Given the description of an element on the screen output the (x, y) to click on. 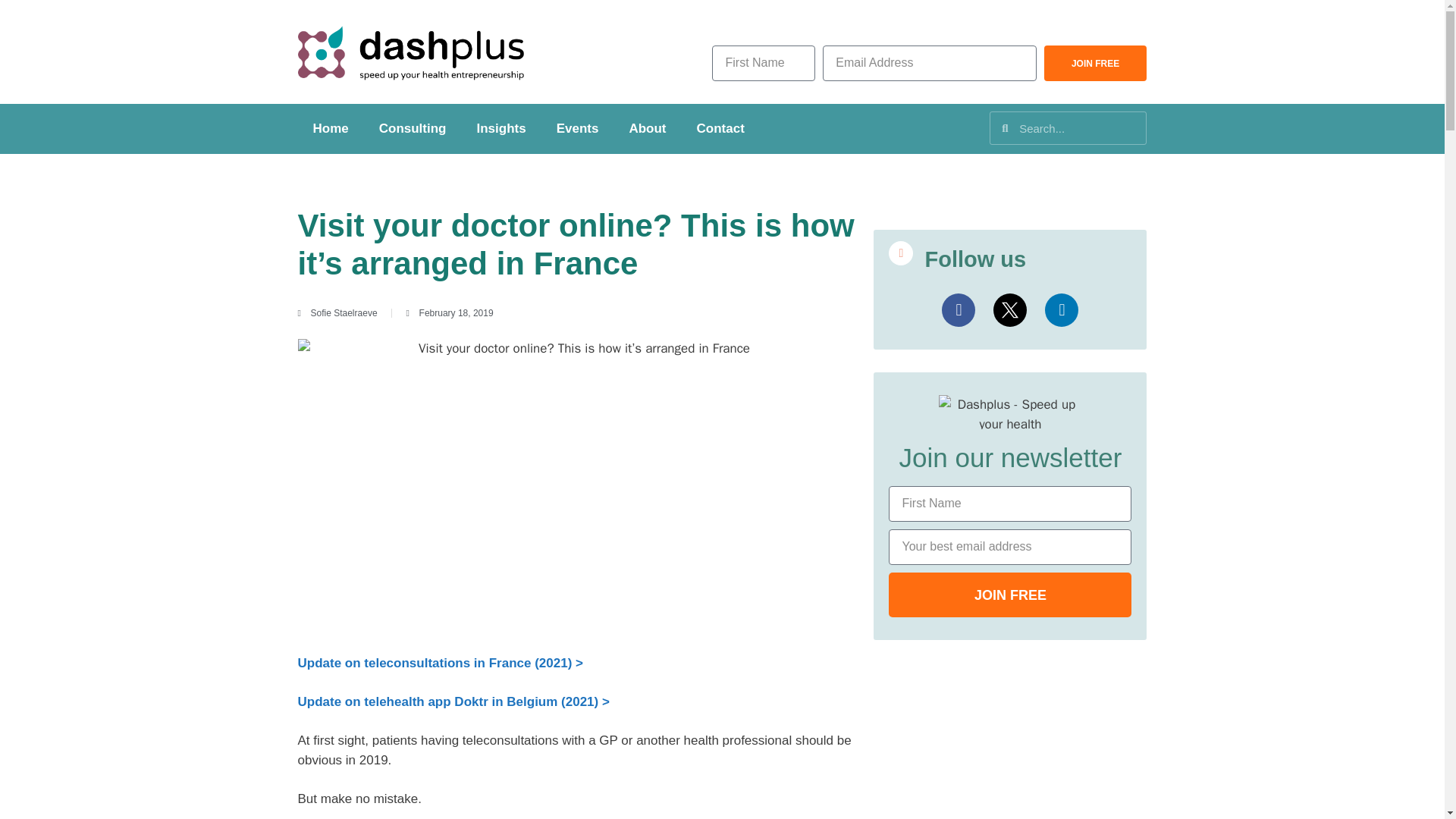
About (646, 128)
Insights (500, 128)
February 18, 2019 (449, 313)
JOIN FREE (1095, 63)
Contact (720, 128)
Events (577, 128)
Sofie Staelraeve (337, 313)
Consulting (412, 128)
Home (329, 128)
